Given the description of an element on the screen output the (x, y) to click on. 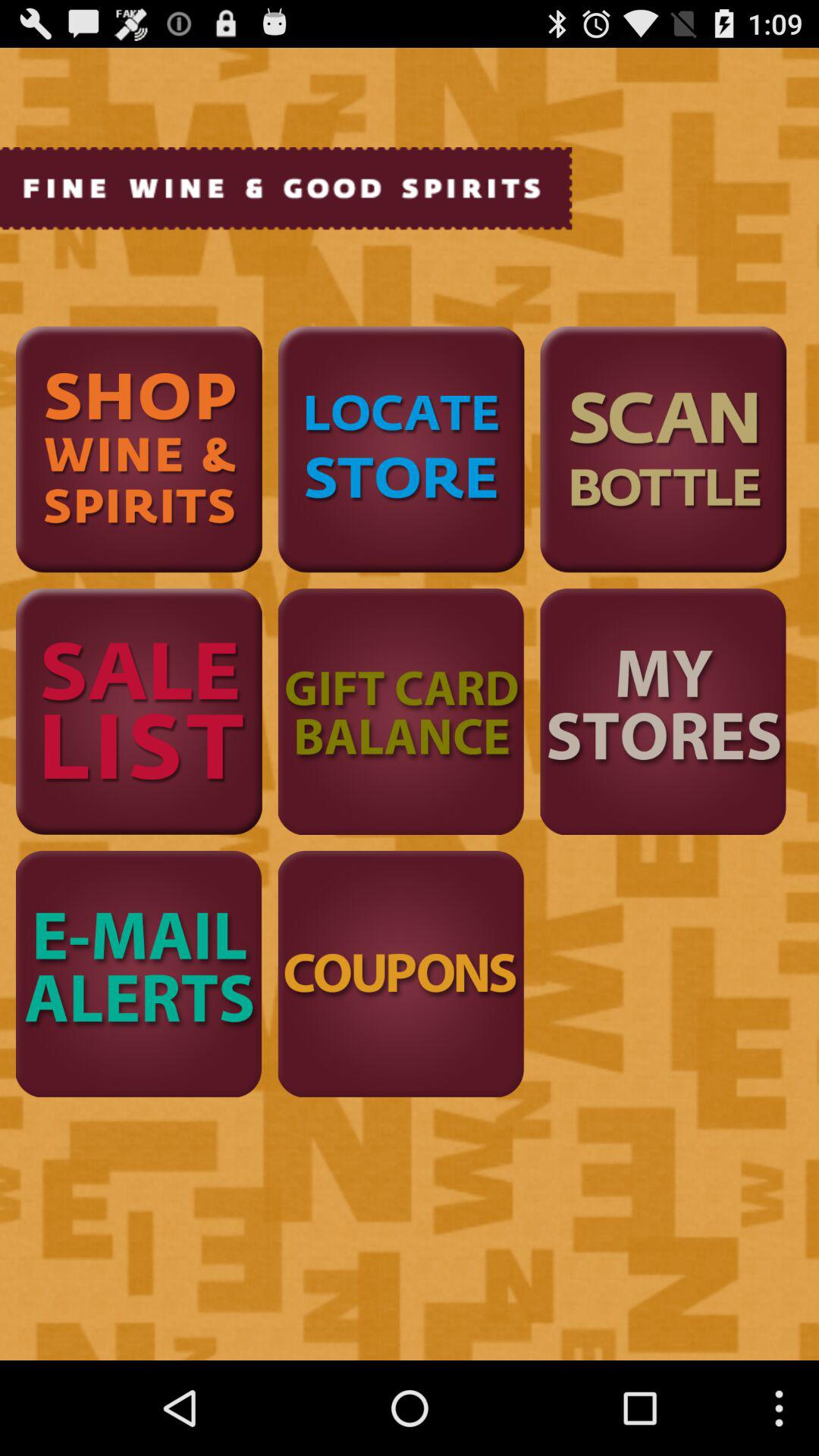
select gift card balance (401, 711)
